Given the description of an element on the screen output the (x, y) to click on. 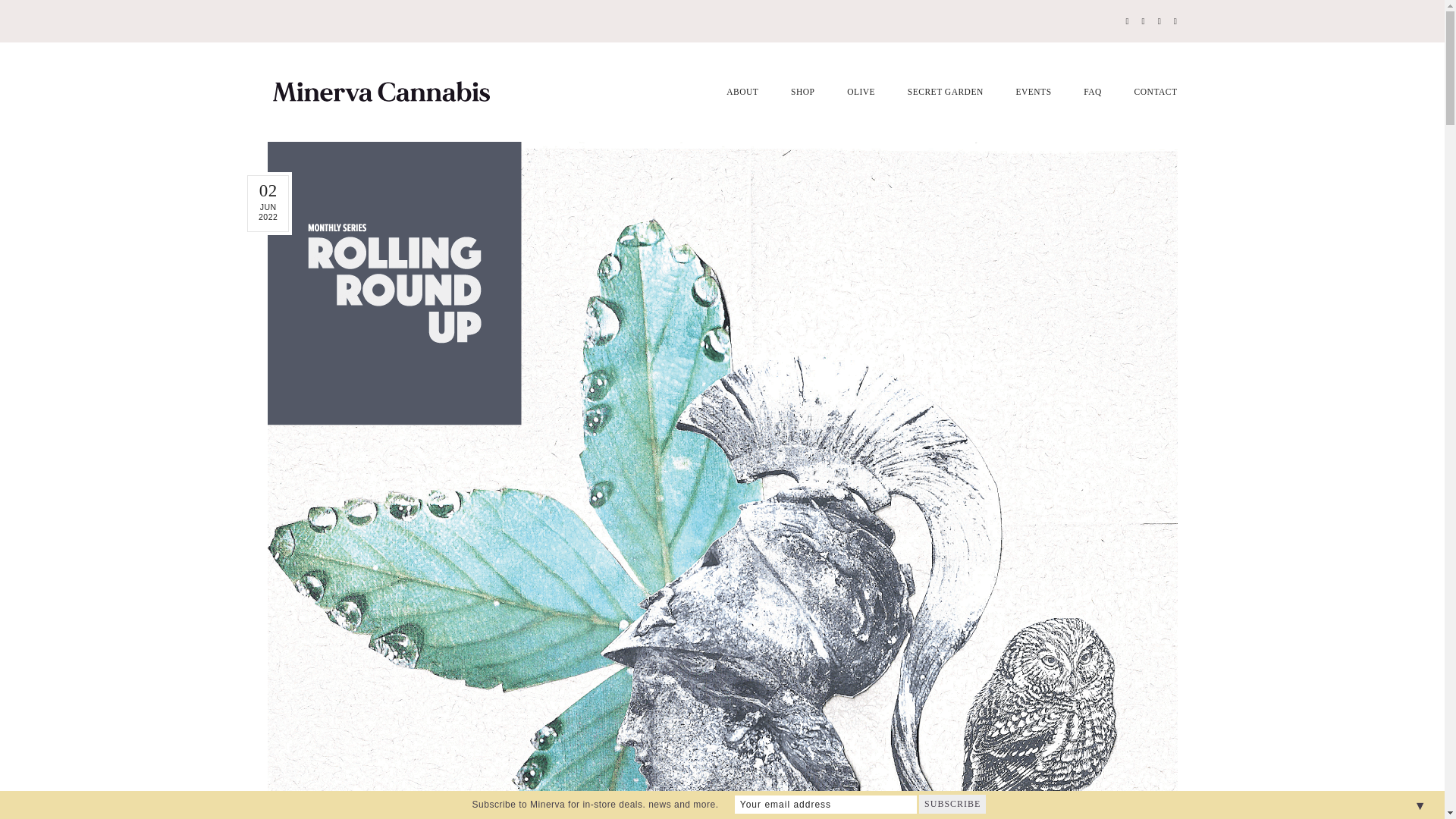
Subscribe (951, 804)
